Given the description of an element on the screen output the (x, y) to click on. 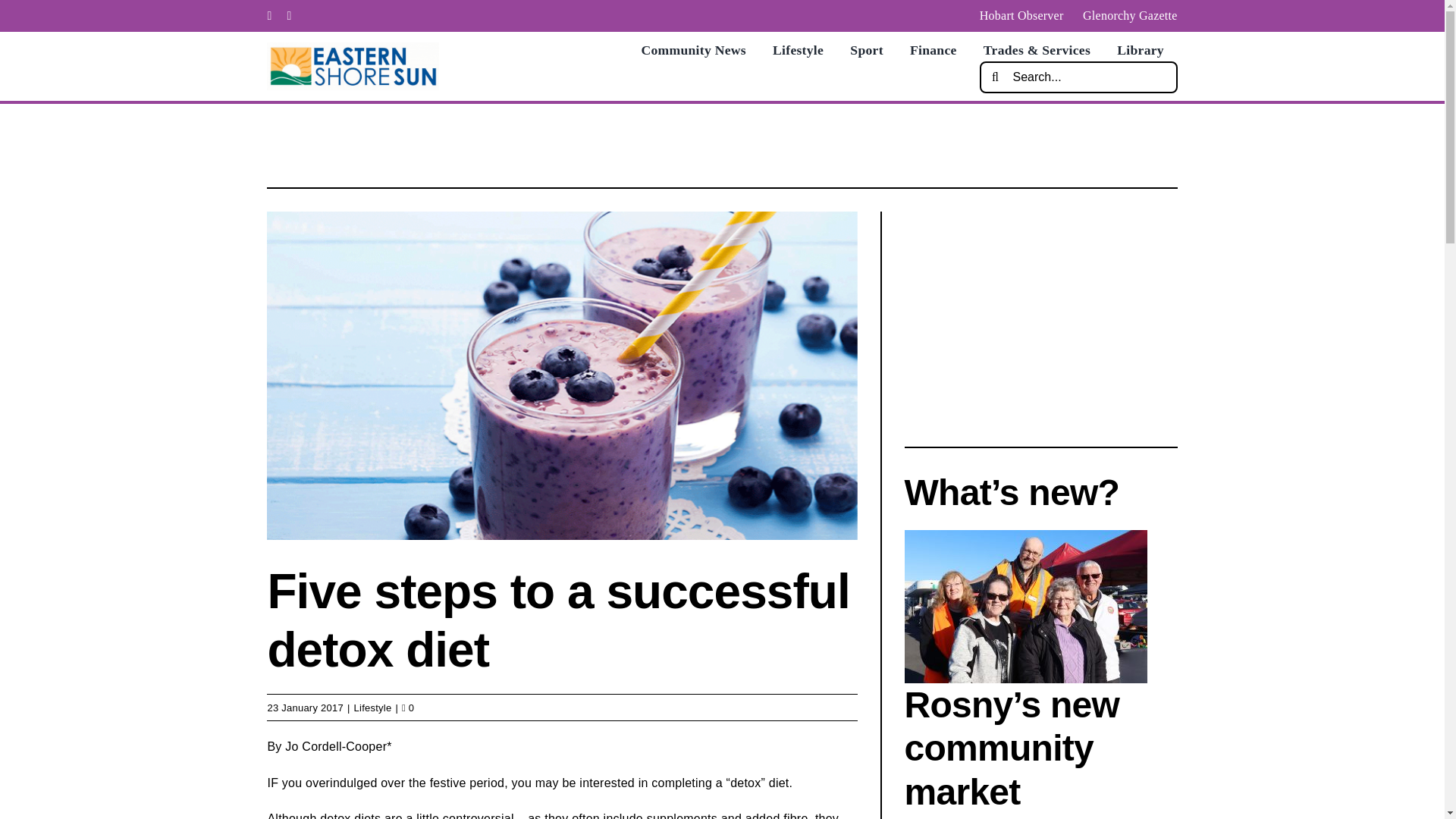
Sport (407, 707)
Library (866, 49)
Instagram (1139, 49)
Lifestyle (289, 15)
Facebook (372, 707)
Lifestyle (268, 15)
ho-jan-2017-1 (798, 49)
Community News (933, 49)
